Given the description of an element on the screen output the (x, y) to click on. 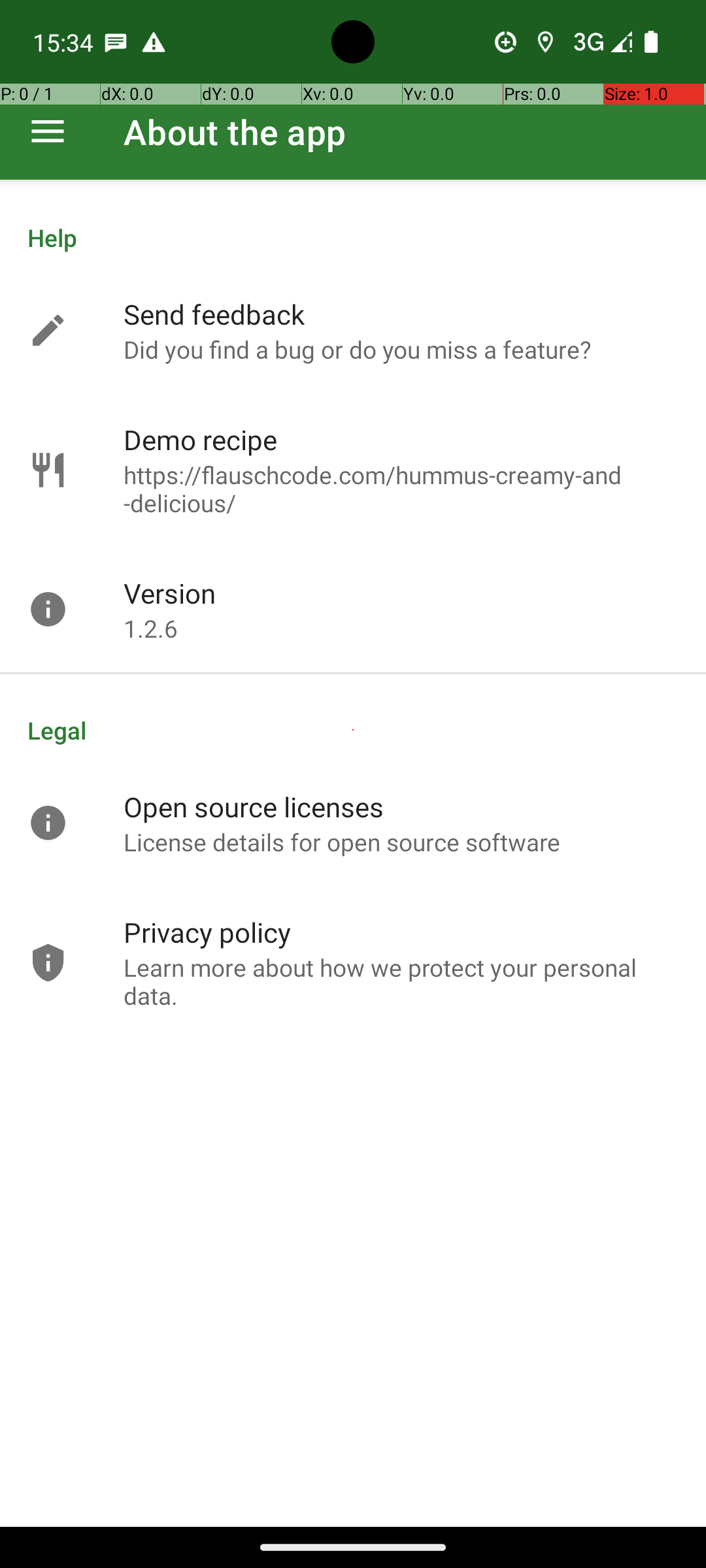
About the app Element type: android.widget.TextView (234, 131)
Help Element type: android.widget.TextView (352, 237)
Send feedback Element type: android.widget.TextView (213, 313)
Did you find a bug or do you miss a feature? Element type: android.widget.TextView (356, 348)
Demo recipe Element type: android.widget.TextView (200, 438)
https://flauschcode.com/hummus-creamy-and-delicious/ Element type: android.widget.TextView (400, 488)
Version Element type: android.widget.TextView (169, 592)
1.2.6 Element type: android.widget.TextView (150, 627)
Legal Element type: android.widget.TextView (352, 729)
Open source licenses Element type: android.widget.TextView (253, 806)
License details for open source software Element type: android.widget.TextView (341, 841)
Privacy policy Element type: android.widget.TextView (206, 931)
Learn more about how we protect your personal data. Element type: android.widget.TextView (400, 981)
